Given the description of an element on the screen output the (x, y) to click on. 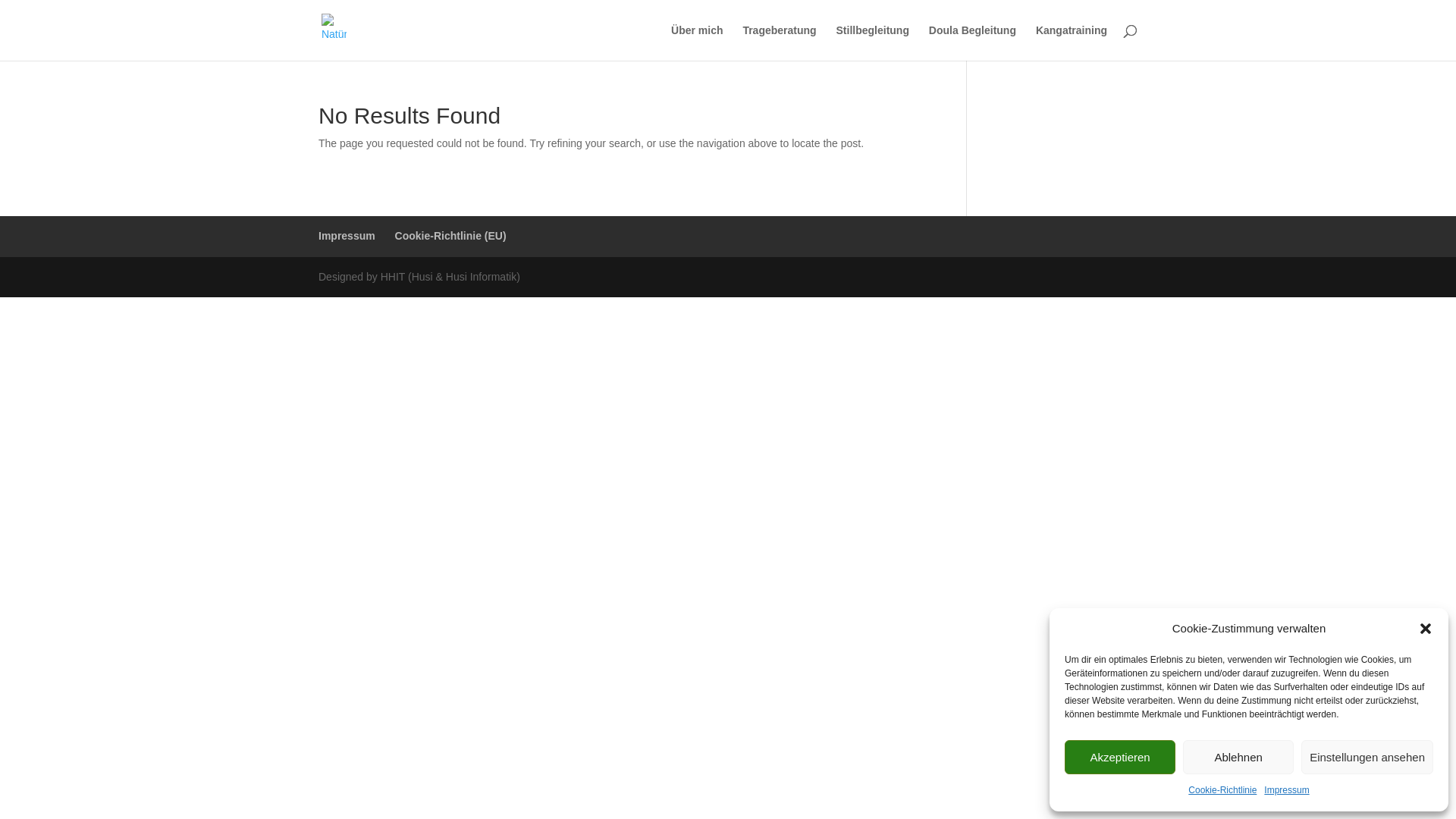
Doula Begleitung Element type: text (972, 42)
Impressum Element type: text (346, 235)
Impressum Element type: text (1286, 790)
Ablehnen Element type: text (1238, 757)
Einstellungen ansehen Element type: text (1367, 757)
Akzeptieren Element type: text (1119, 757)
Stillbegleitung Element type: text (872, 42)
Kangatraining Element type: text (1071, 42)
Cookie-Richtlinie Element type: text (1222, 790)
Cookie-Richtlinie (EU) Element type: text (450, 235)
Trageberatung Element type: text (778, 42)
